Given the description of an element on the screen output the (x, y) to click on. 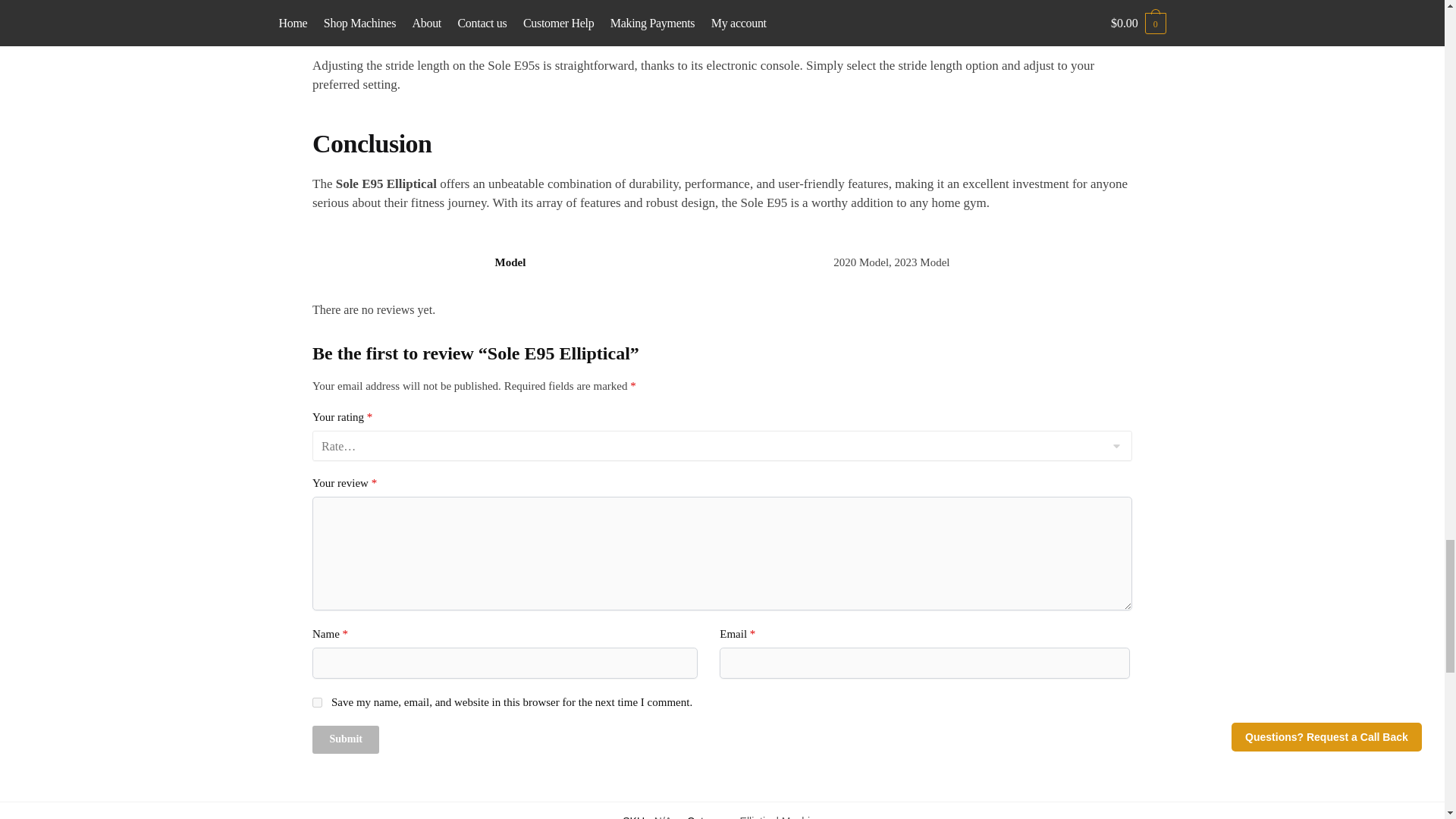
Submit (345, 739)
yes (317, 702)
